Given the description of an element on the screen output the (x, y) to click on. 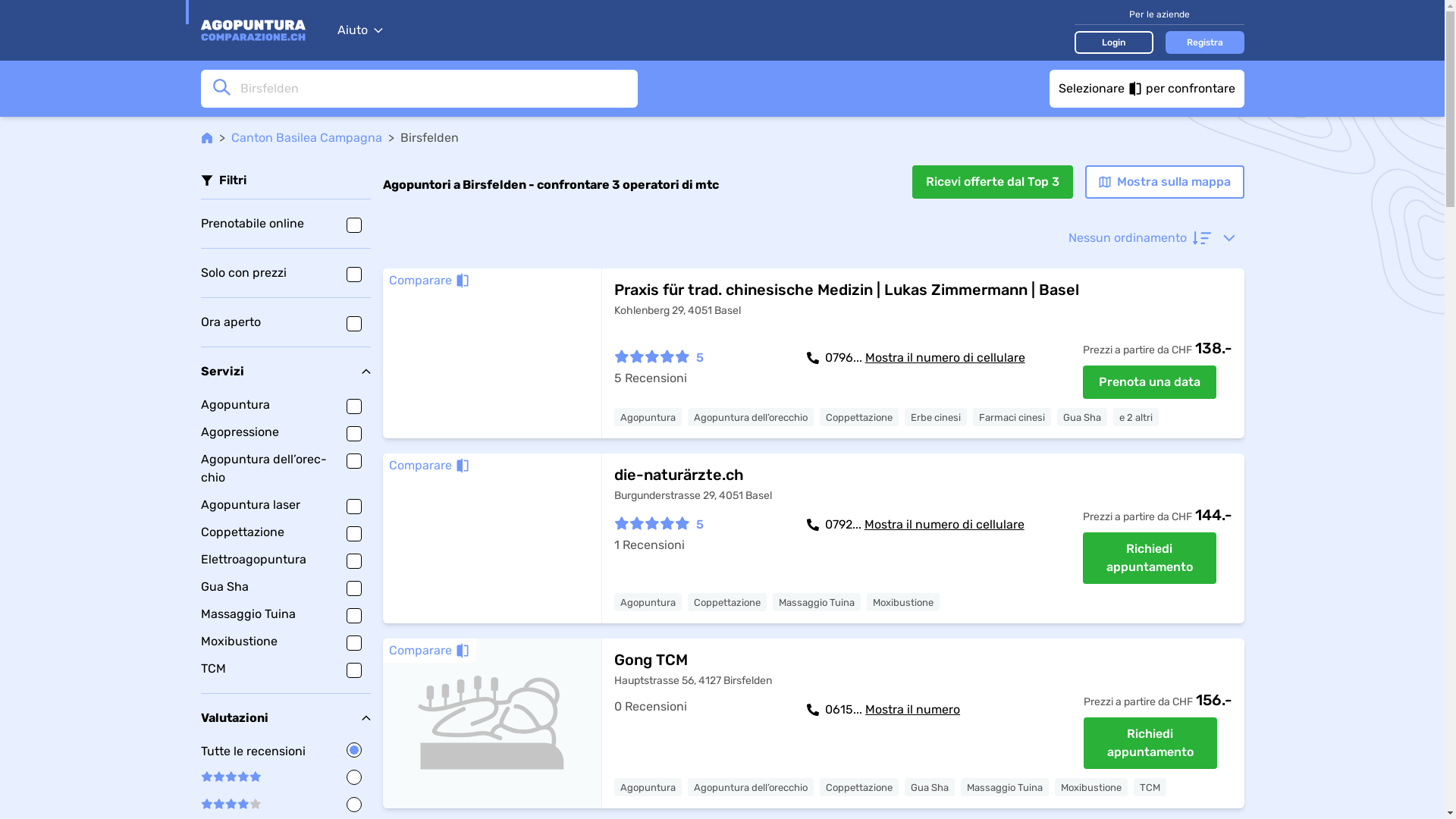
Aiuto Element type: text (359, 30)
Prenotabile online Element type: text (285, 223)
Ora aperto Element type: text (285, 321)
Prenota una data Element type: text (1149, 381)
Comparare Element type: text (428, 465)
Richiedi appuntamento Element type: text (1149, 557)
Comparare Element type: text (428, 650)
Login Element type: text (1112, 41)
Mostra sulla mappa Element type: text (1163, 181)
Richiedi appuntamento Element type: text (1149, 742)
Nessun ordinamento Element type: text (1150, 237)
Registra Element type: text (1203, 41)
Canton Basilea Campagna Element type: text (305, 137)
Comparare Element type: text (428, 280)
Vai alla home page Element type: hover (260, 30)
Selezionare
per confrontare Element type: text (1146, 88)
Ricevi offerte dal Top 3 Element type: text (991, 181)
Solo con prezzi Element type: text (285, 272)
